Given the description of an element on the screen output the (x, y) to click on. 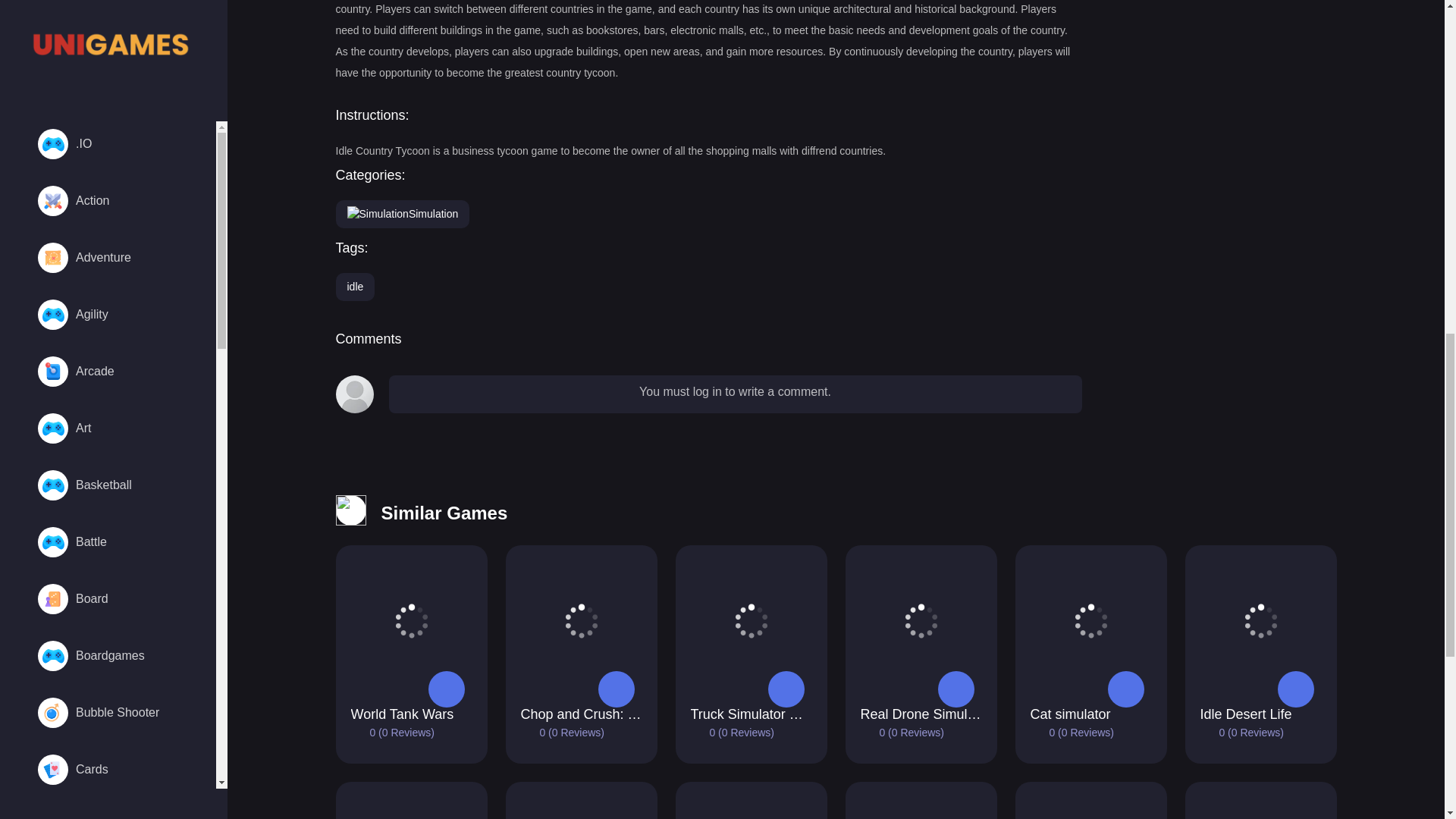
Incremental (117, 575)
Educational (117, 348)
Idle (117, 519)
Dress-up (117, 291)
Casual (117, 63)
Jigsaw (117, 633)
Junior (117, 689)
Clicker (117, 177)
Football (117, 462)
Care (117, 15)
